Given the description of an element on the screen output the (x, y) to click on. 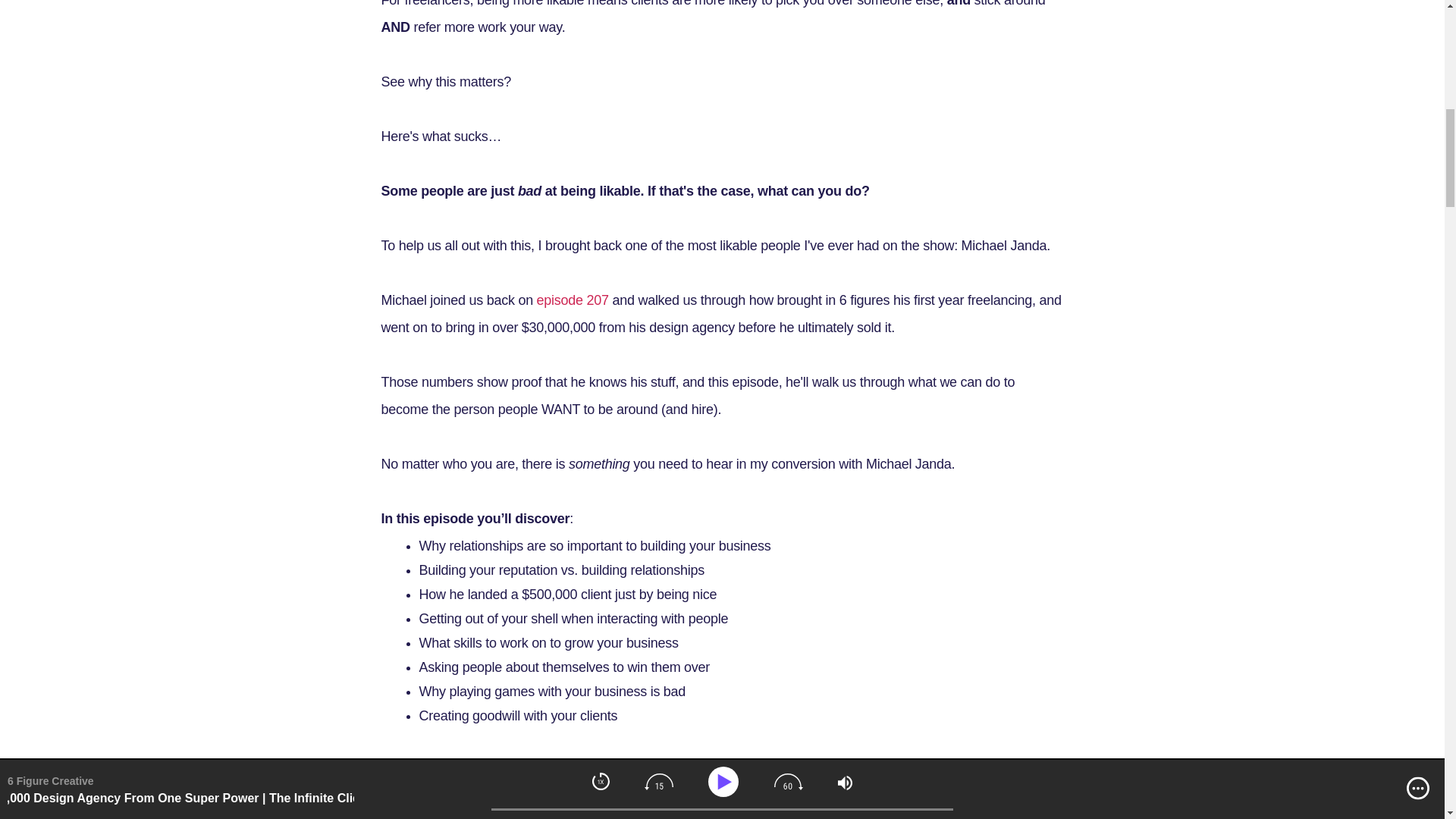
episode 207 (572, 299)
